Given the description of an element on the screen output the (x, y) to click on. 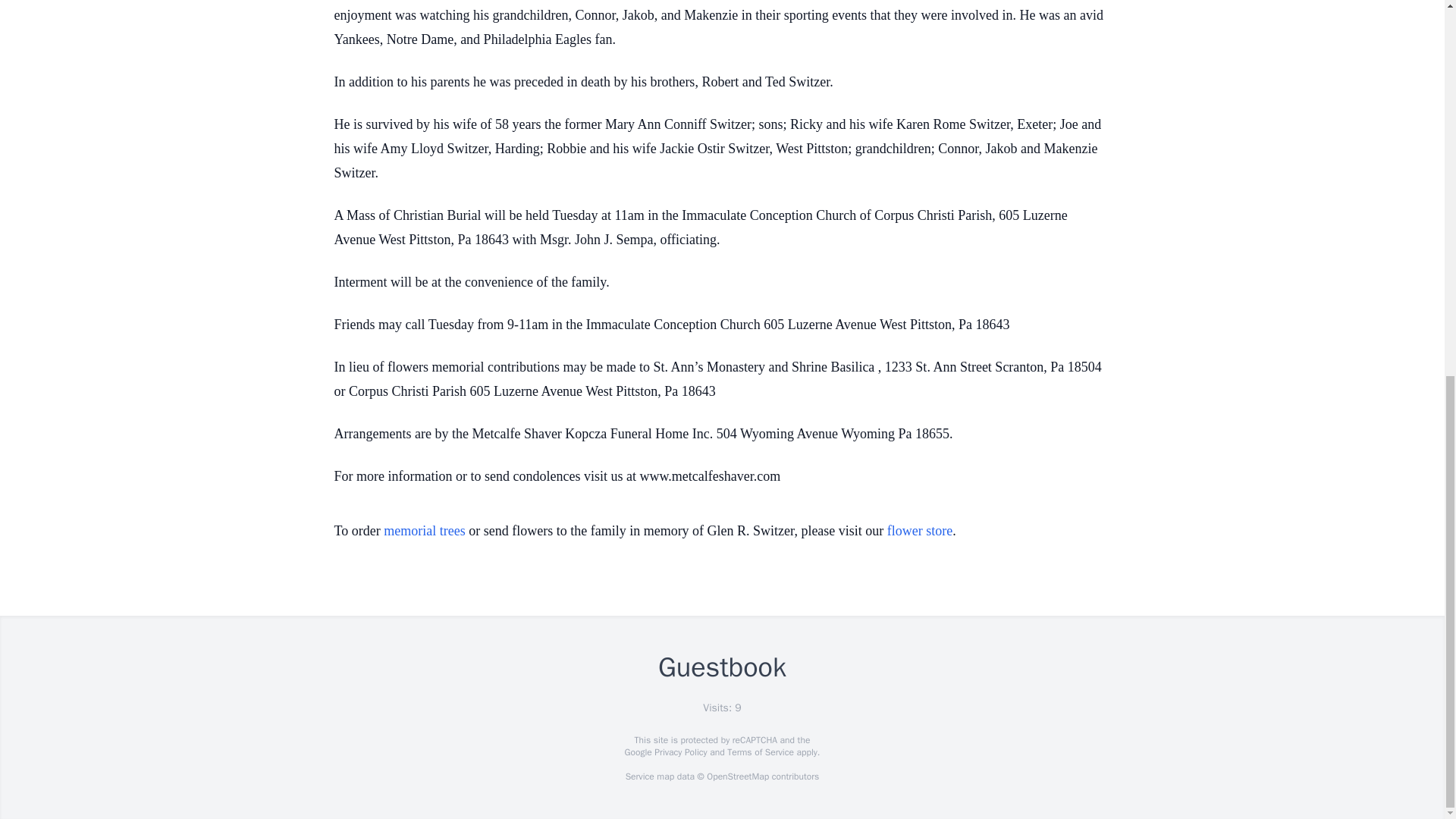
Privacy Policy (679, 752)
OpenStreetMap (737, 776)
memorial trees (424, 530)
Terms of Service (759, 752)
flower store (919, 530)
